Given the description of an element on the screen output the (x, y) to click on. 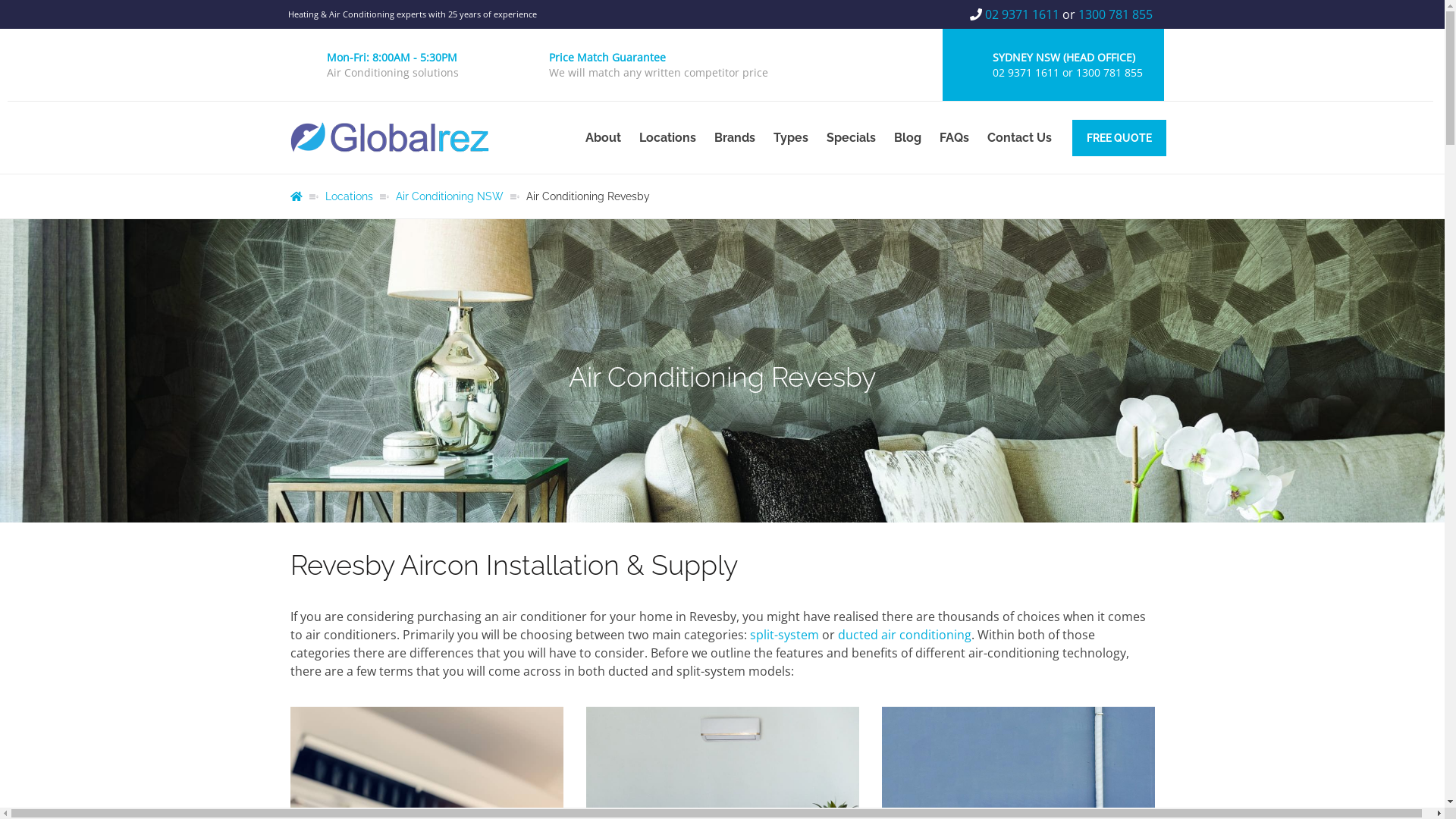
ducted air conditioning Element type: text (903, 634)
Locations Element type: text (666, 137)
Contact Us Element type: text (1019, 137)
FAQs Element type: text (953, 137)
Blog Element type: text (906, 137)
02 9371 1611 Element type: text (1022, 14)
Locations Element type: text (348, 196)
split-system Element type: text (783, 634)
globalrez-logo Element type: hover (388, 137)
FREE QUOTE Element type: text (1119, 137)
Price Match Guarantee Element type: text (607, 57)
About Element type: text (603, 137)
Brands Element type: text (734, 137)
1300 781 855 Element type: text (1115, 14)
Air Conditioning NSW Element type: text (449, 196)
Types Element type: text (790, 137)
Specials Element type: text (850, 137)
02 9371 1611 or 1300 781 855 Element type: text (1066, 72)
